Given the description of an element on the screen output the (x, y) to click on. 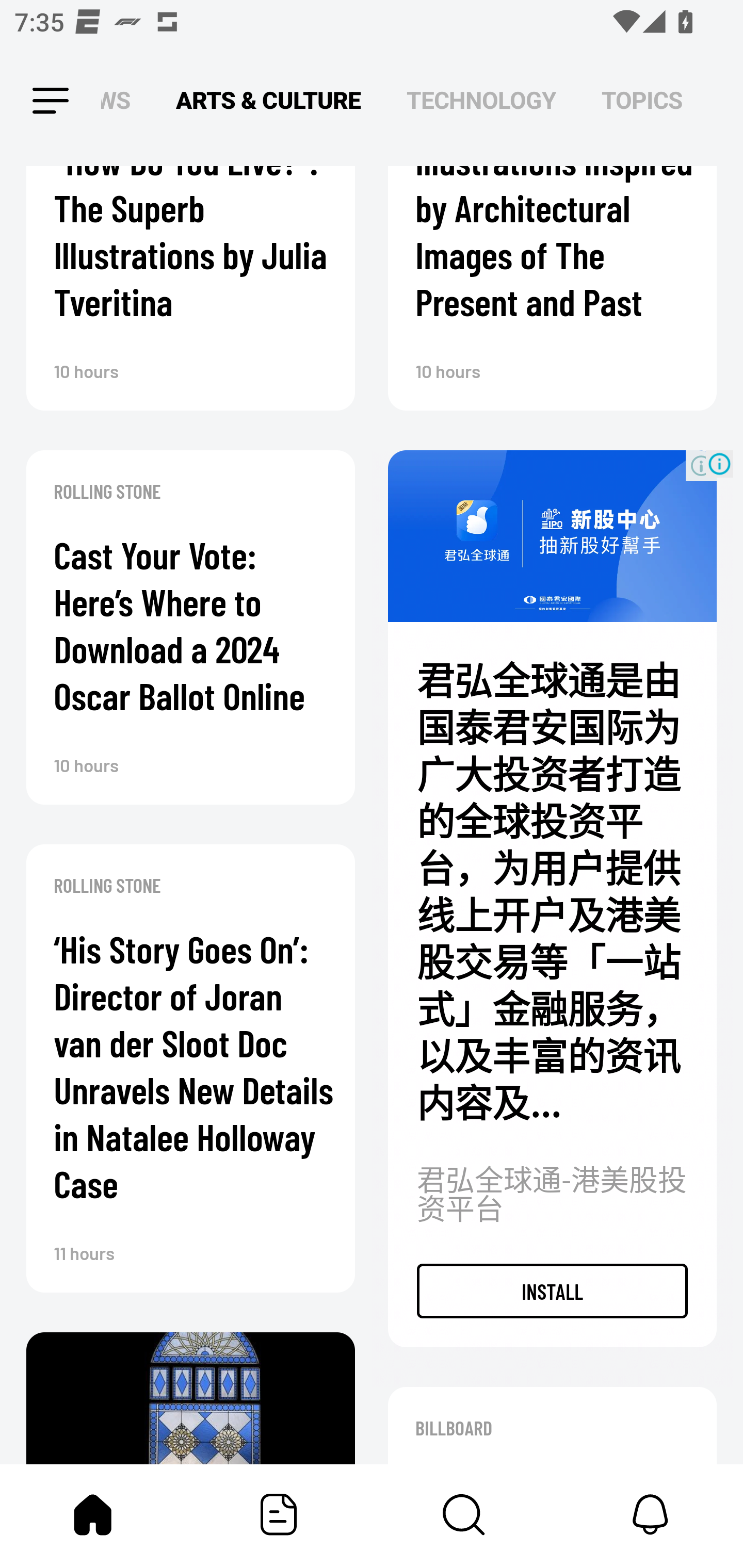
Leading Icon (32, 101)
NEWS (121, 100)
TECHNOLOGY (481, 100)
TOPICS (641, 100)
Ad Choices Icon (719, 464)
Featured (278, 1514)
Content Store (464, 1514)
Notifications (650, 1514)
